Given the description of an element on the screen output the (x, y) to click on. 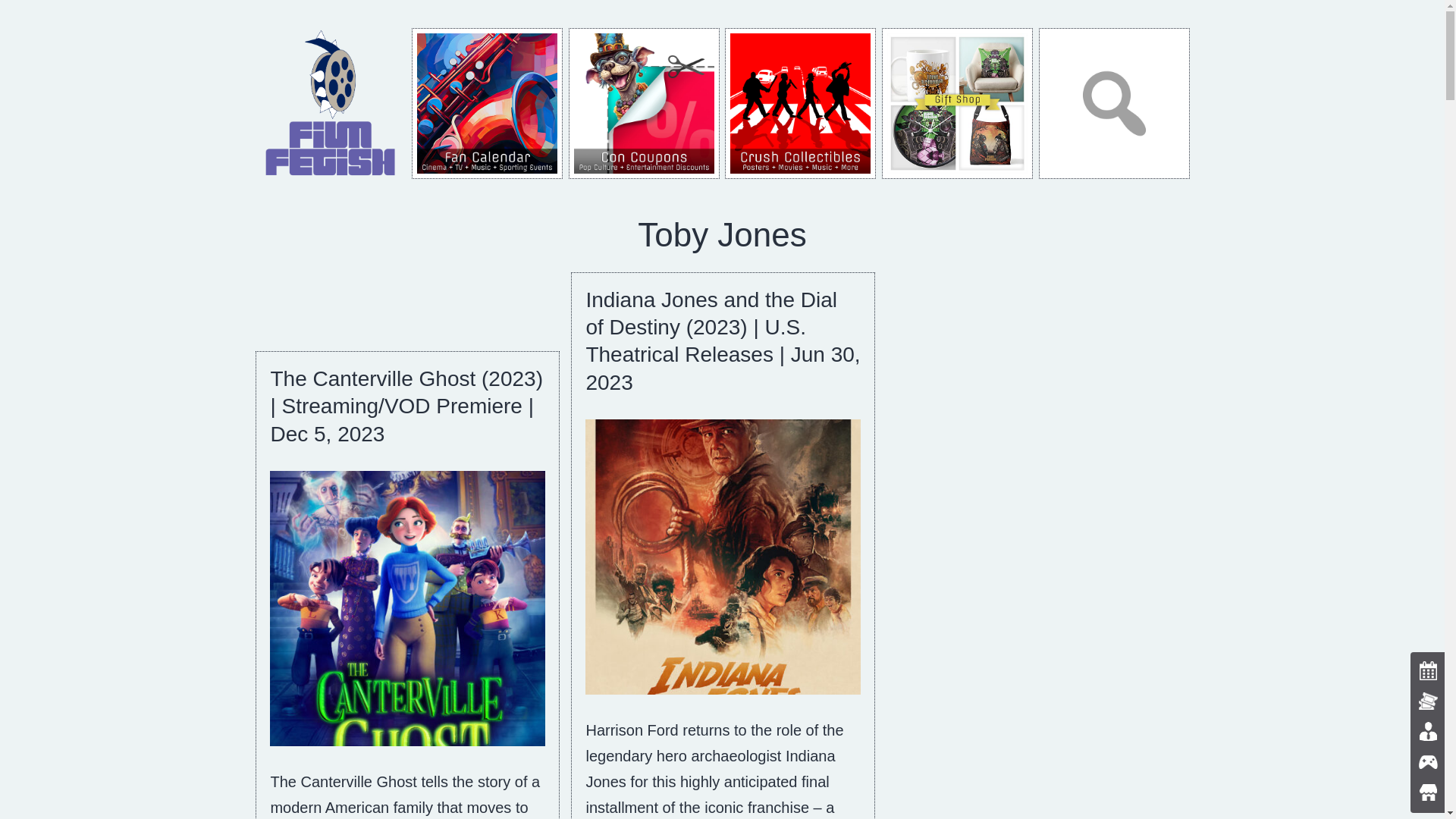
Film Fetish Official Shop (957, 103)
Film Fetish Home (330, 103)
Crush Collectibles (800, 103)
Home (330, 102)
Fan Calendar (487, 103)
Con Coupons (644, 103)
Search (1114, 103)
